Given the description of an element on the screen output the (x, y) to click on. 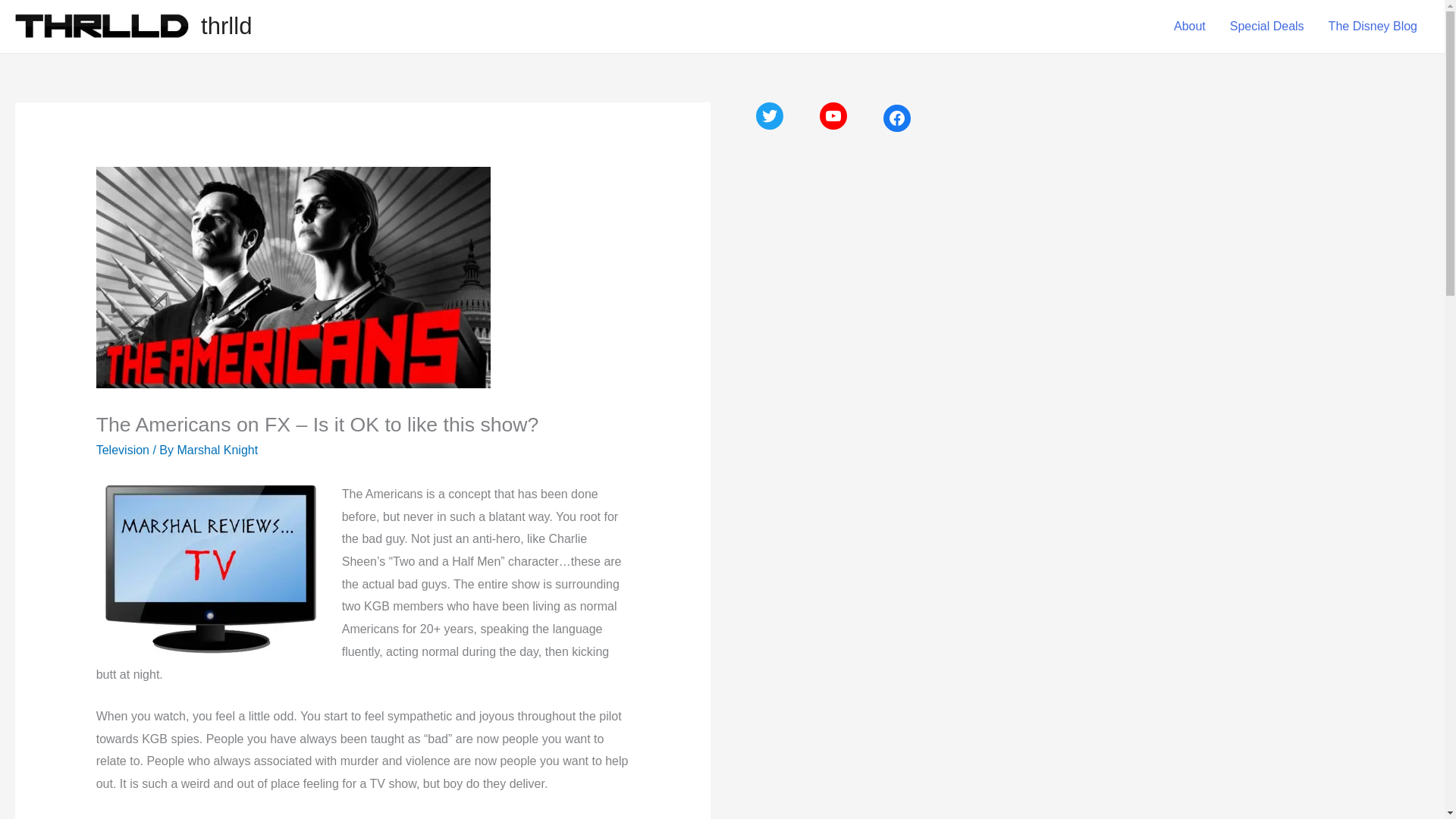
Twitter (769, 115)
About (1189, 26)
Marshal Knight (216, 449)
The Disney Blog (1372, 26)
YouTube (833, 115)
Special Deals (1266, 26)
Television (122, 449)
thrlld (225, 26)
View all posts by Marshal Knight (216, 449)
Facebook (897, 117)
